Given the description of an element on the screen output the (x, y) to click on. 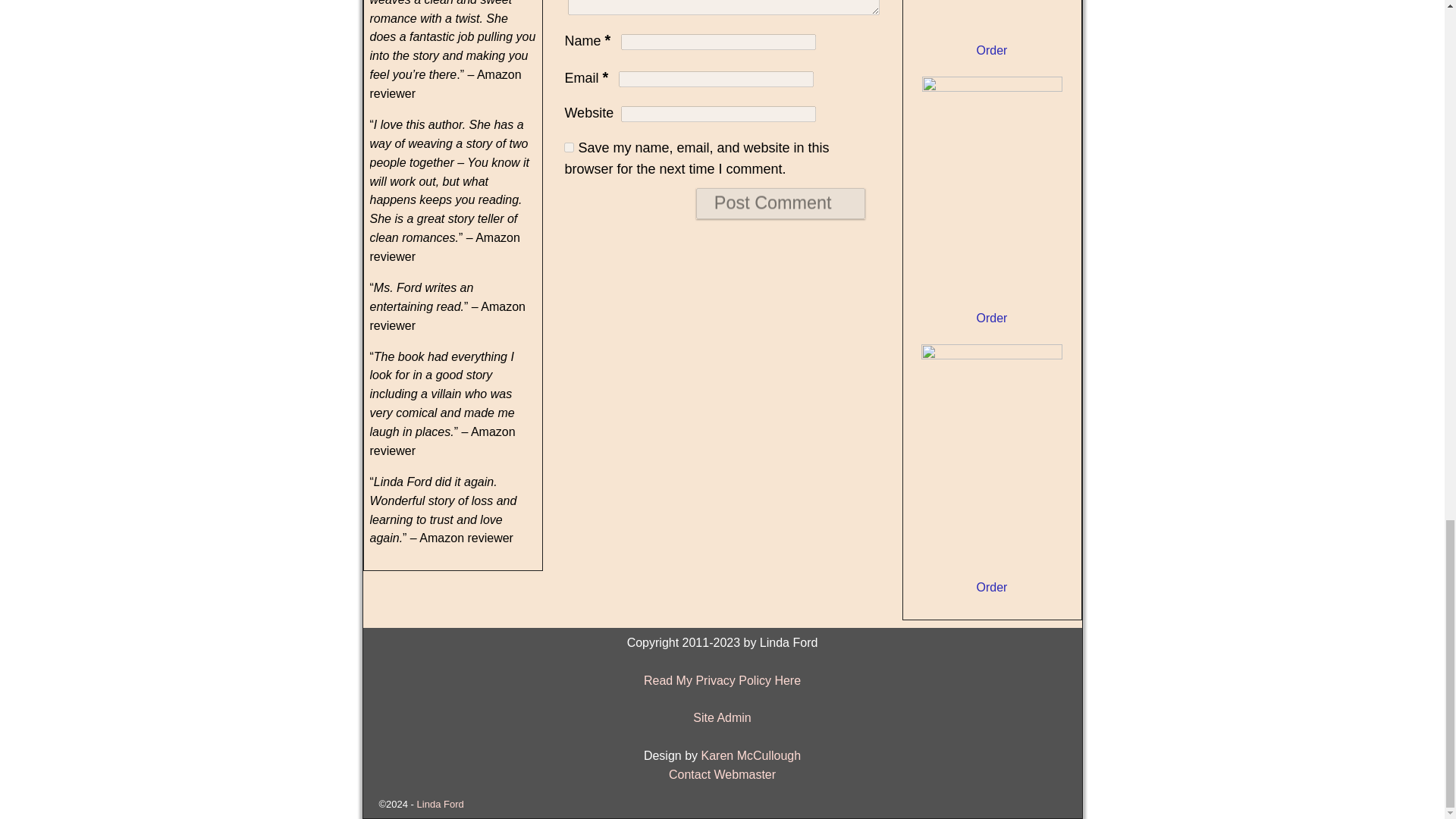
Order (991, 50)
yes (568, 147)
Order (991, 318)
Post Comment (779, 203)
Linda Ford (440, 803)
Post Comment (779, 203)
